Given the description of an element on the screen output the (x, y) to click on. 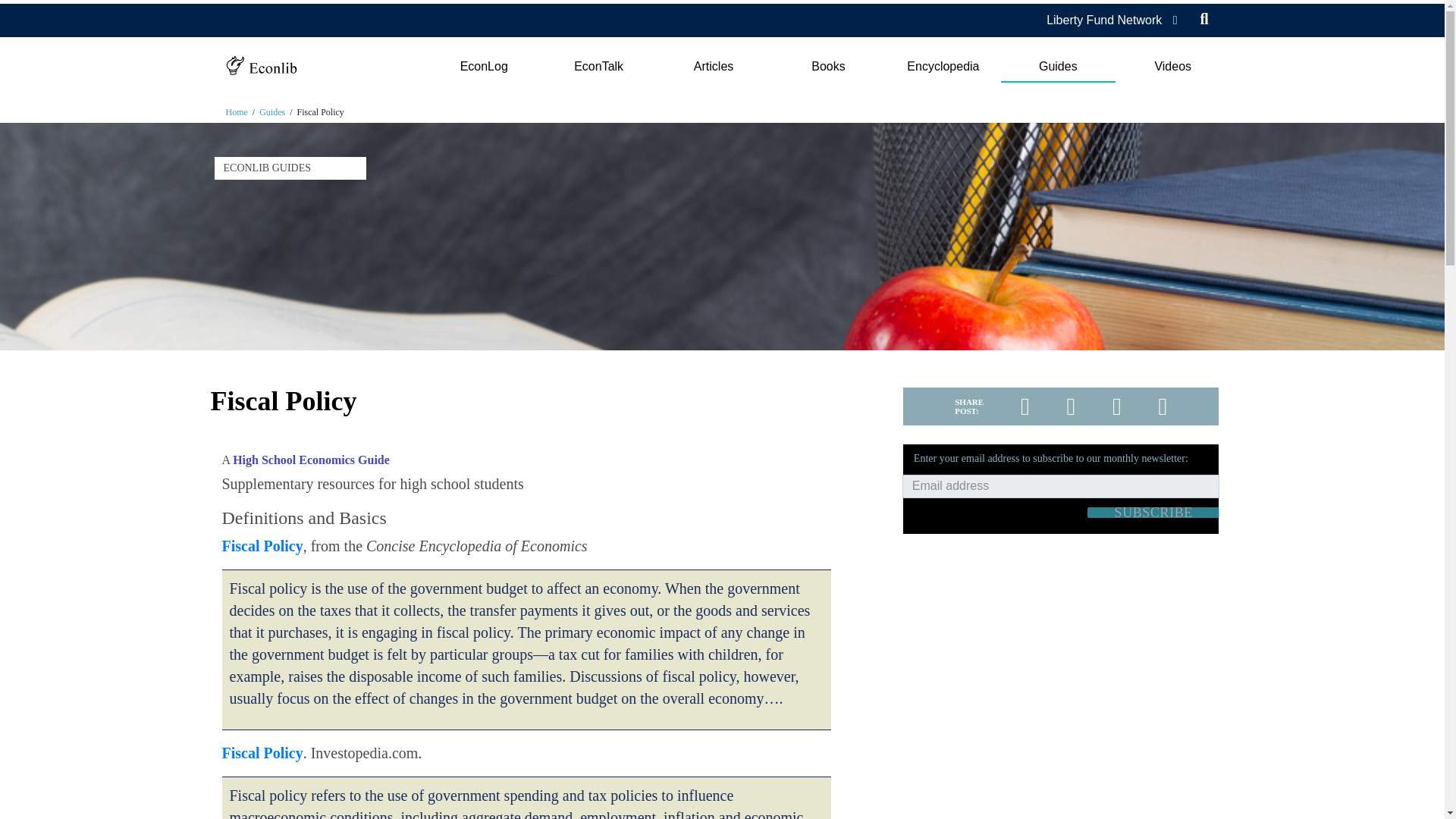
EconTalk (598, 66)
Books (828, 66)
EconLog (483, 66)
Encyclopedia (942, 66)
Articles (713, 66)
Liberty Fund Network (1104, 20)
Subscribe (1153, 511)
